Given the description of an element on the screen output the (x, y) to click on. 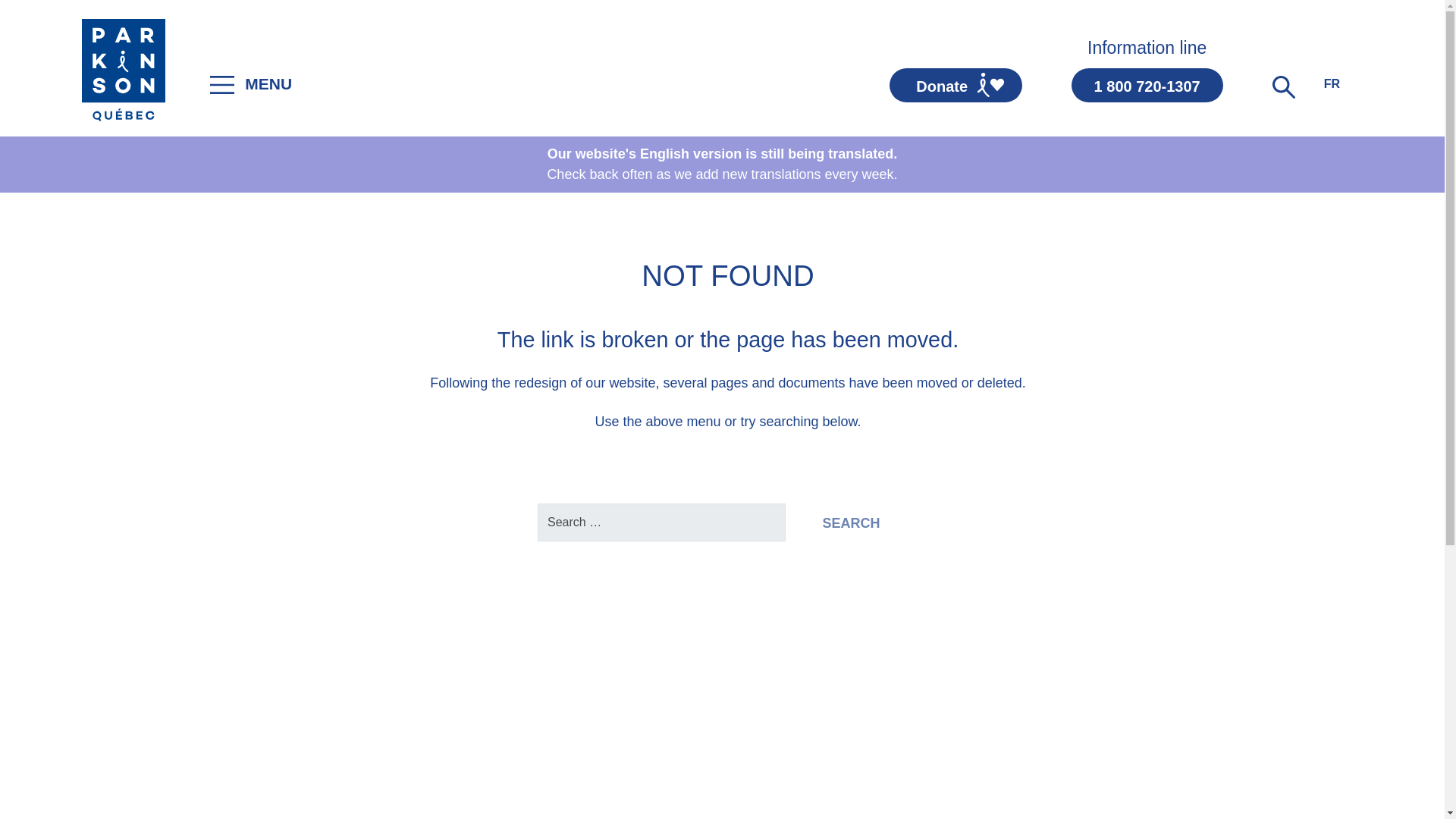
Donate (955, 84)
1 800 720-1307 (1147, 84)
MENU (249, 85)
Search (850, 522)
Search (850, 522)
